Given the description of an element on the screen output the (x, y) to click on. 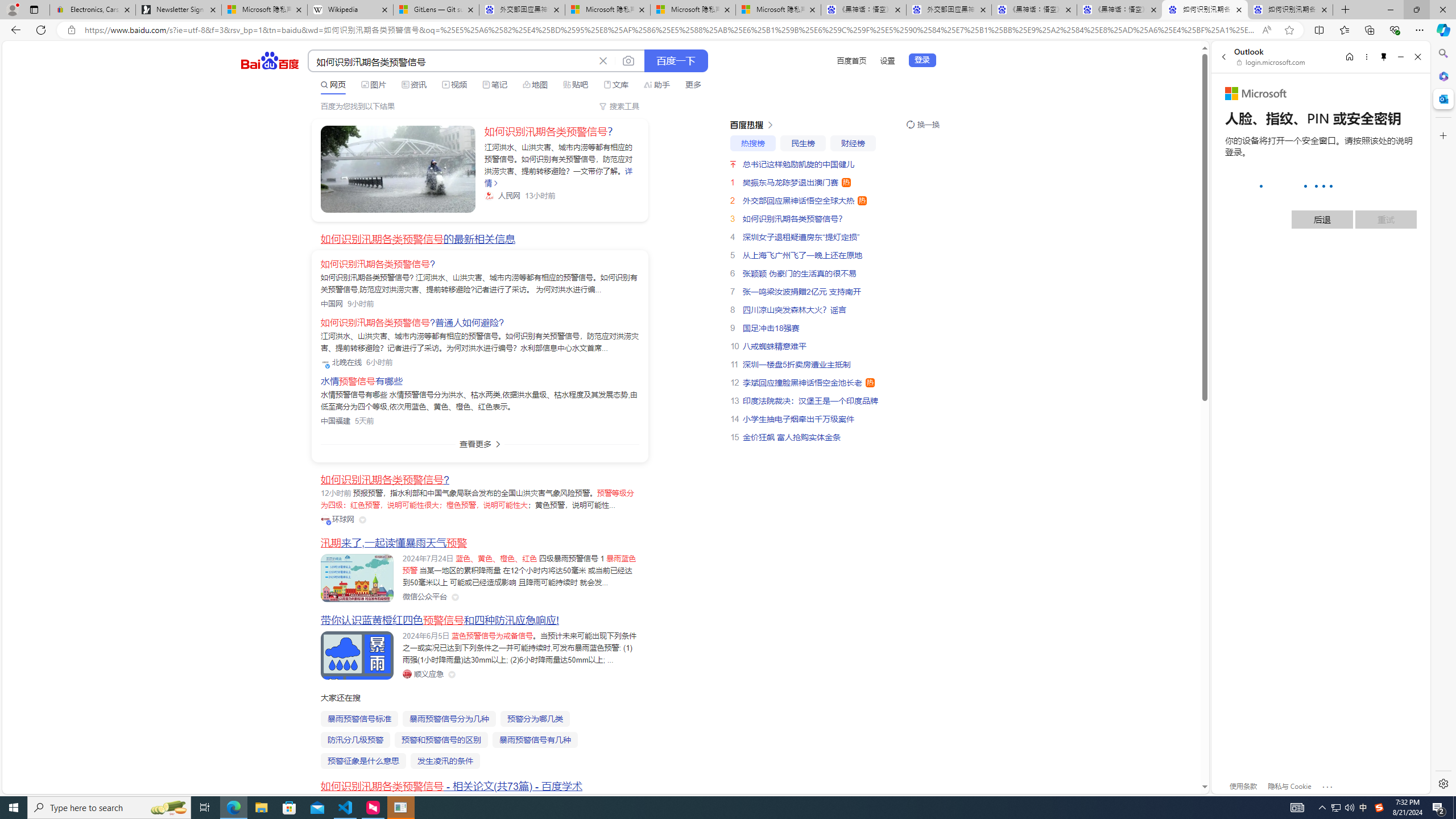
login.microsoft.com (1271, 61)
Class: siteLink_9TPP3 (423, 673)
AutomationID: kw (451, 61)
